Given the description of an element on the screen output the (x, y) to click on. 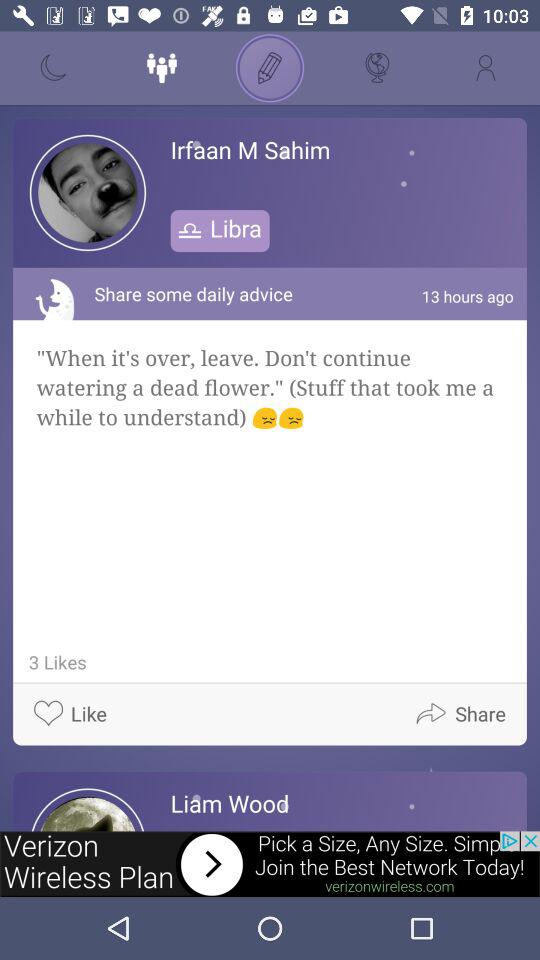
pencil button (269, 68)
